Given the description of an element on the screen output the (x, y) to click on. 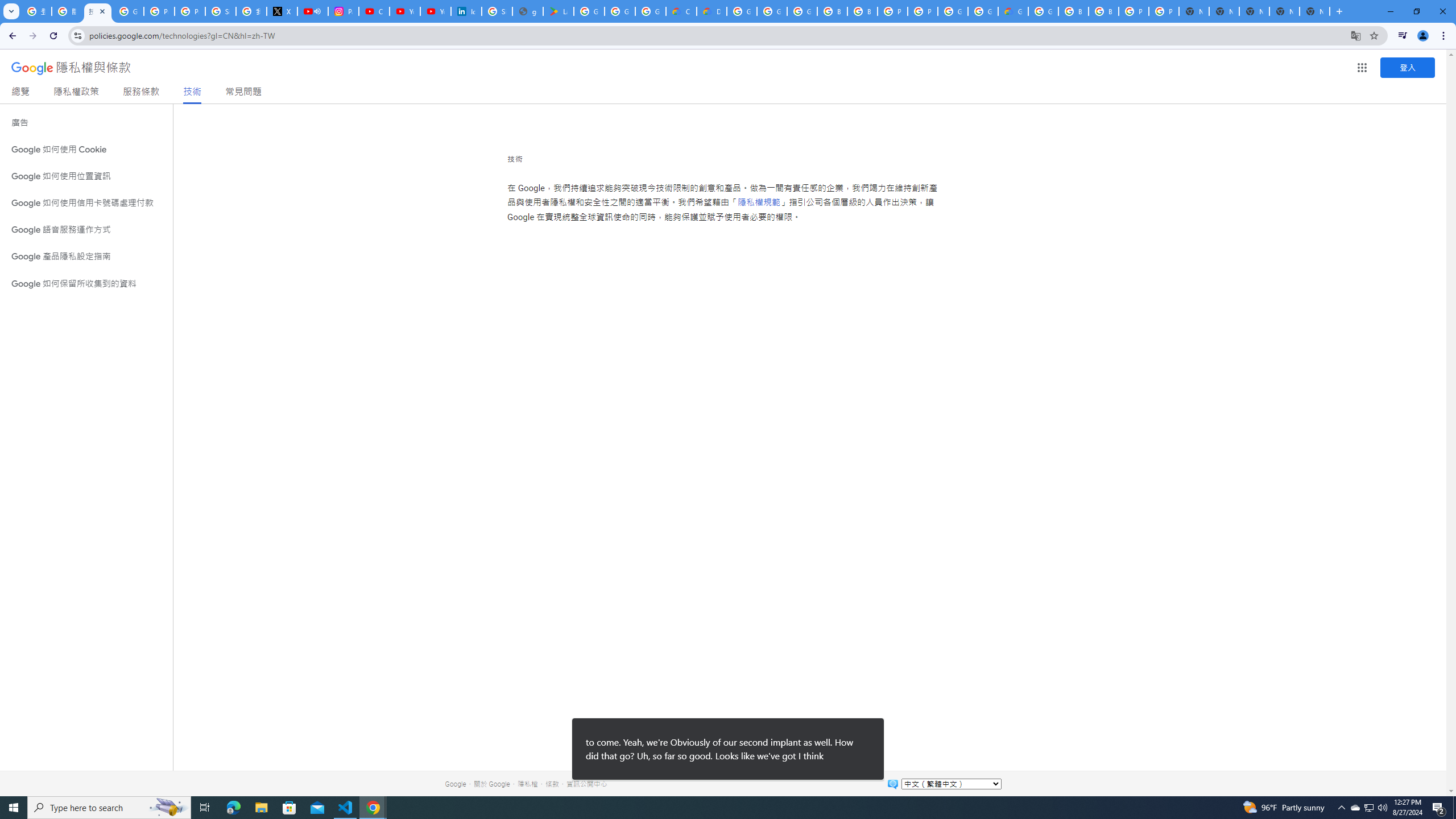
Google Workspace - Specific Terms (619, 11)
YouTube Culture & Trends - YouTube Top 10, 2021 (434, 11)
Privacy Help Center - Policies Help (158, 11)
